Given the description of an element on the screen output the (x, y) to click on. 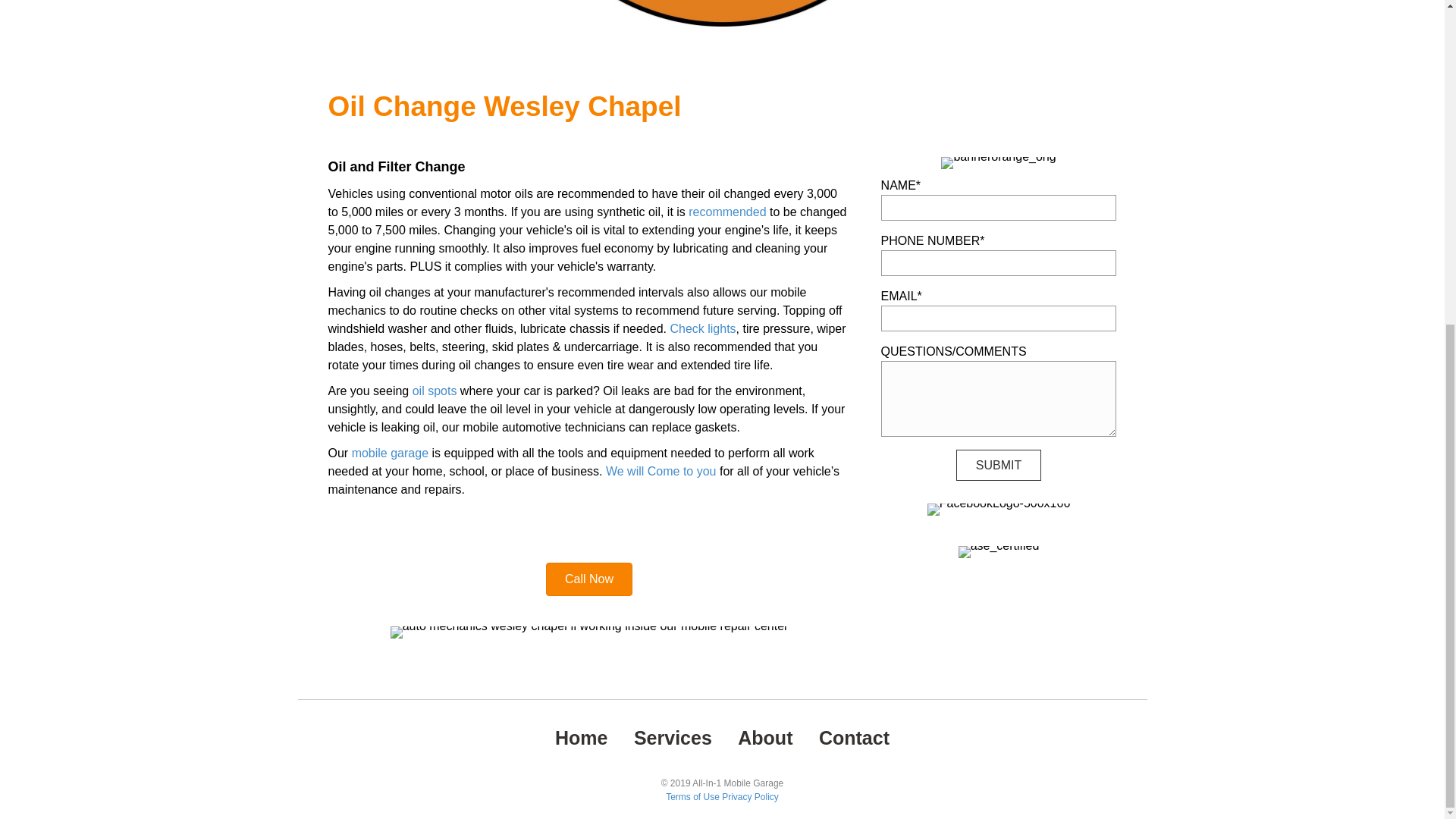
Check lights (702, 328)
We will Come to you (660, 471)
FacebookLogo-500x166 (998, 509)
recommended (726, 211)
Mobile repair Quall Hollow (589, 632)
My Winning Circle Privacy Policy (750, 796)
Call Now (588, 579)
My Winning Circle Terms of Use (692, 796)
Contact (853, 737)
SUBMIT (998, 464)
About (765, 737)
Privacy Policy (750, 796)
oil spots (434, 390)
SUBMIT (998, 464)
ALL-IN-1 Mobile Garage Logo (721, 13)
